Given the description of an element on the screen output the (x, y) to click on. 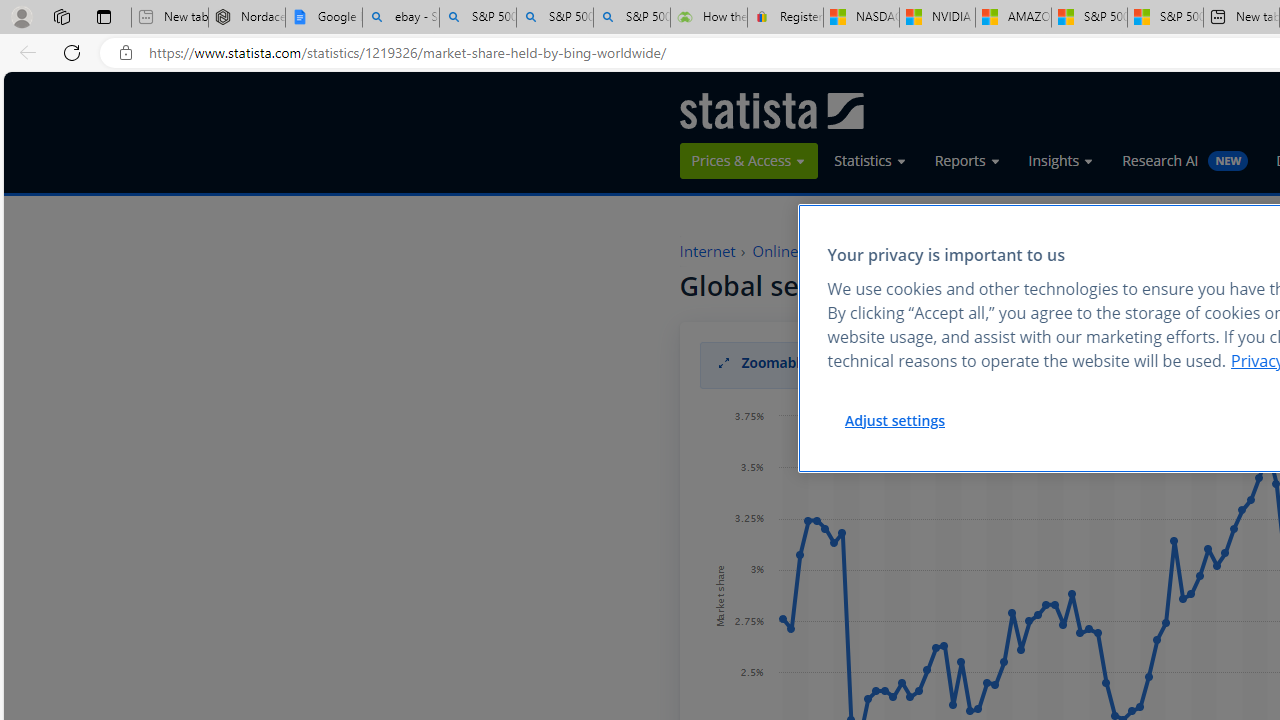
Prices & Access (749, 160)
Statistics (870, 160)
S&P 500, Nasdaq end lower, weighed by Nvidia dip | Watch (1165, 17)
Google Docs: Online Document Editor | Google Workspace (323, 17)
Internet (707, 251)
Research AI (1184, 161)
New tab - Sleeping (169, 17)
Reports (966, 161)
Online Search (800, 251)
Prices & Access (748, 161)
Insights (1060, 160)
Statistics (870, 161)
S&P 500 - Search (554, 17)
